Given the description of an element on the screen output the (x, y) to click on. 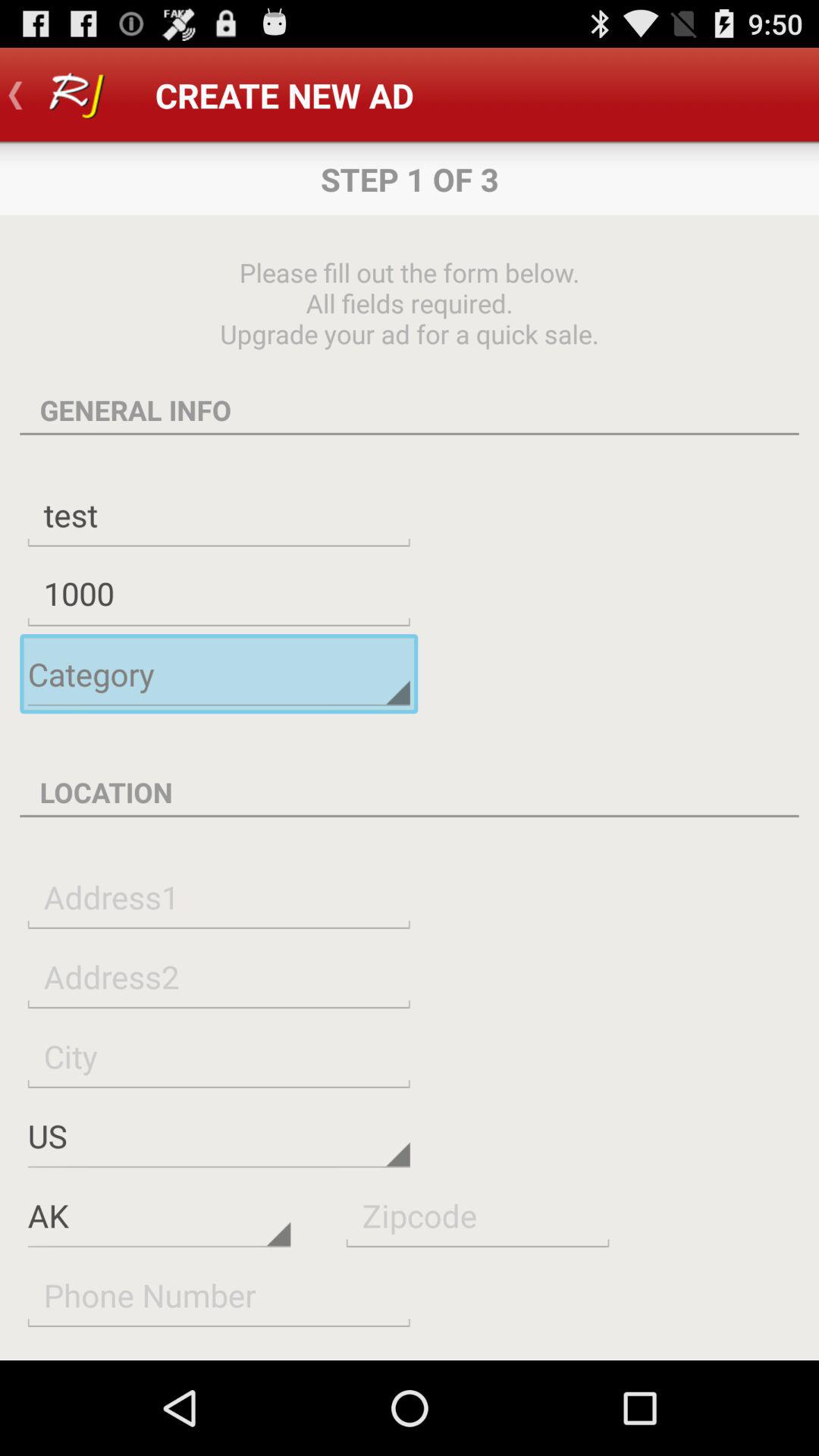
input words (218, 976)
